Given the description of an element on the screen output the (x, y) to click on. 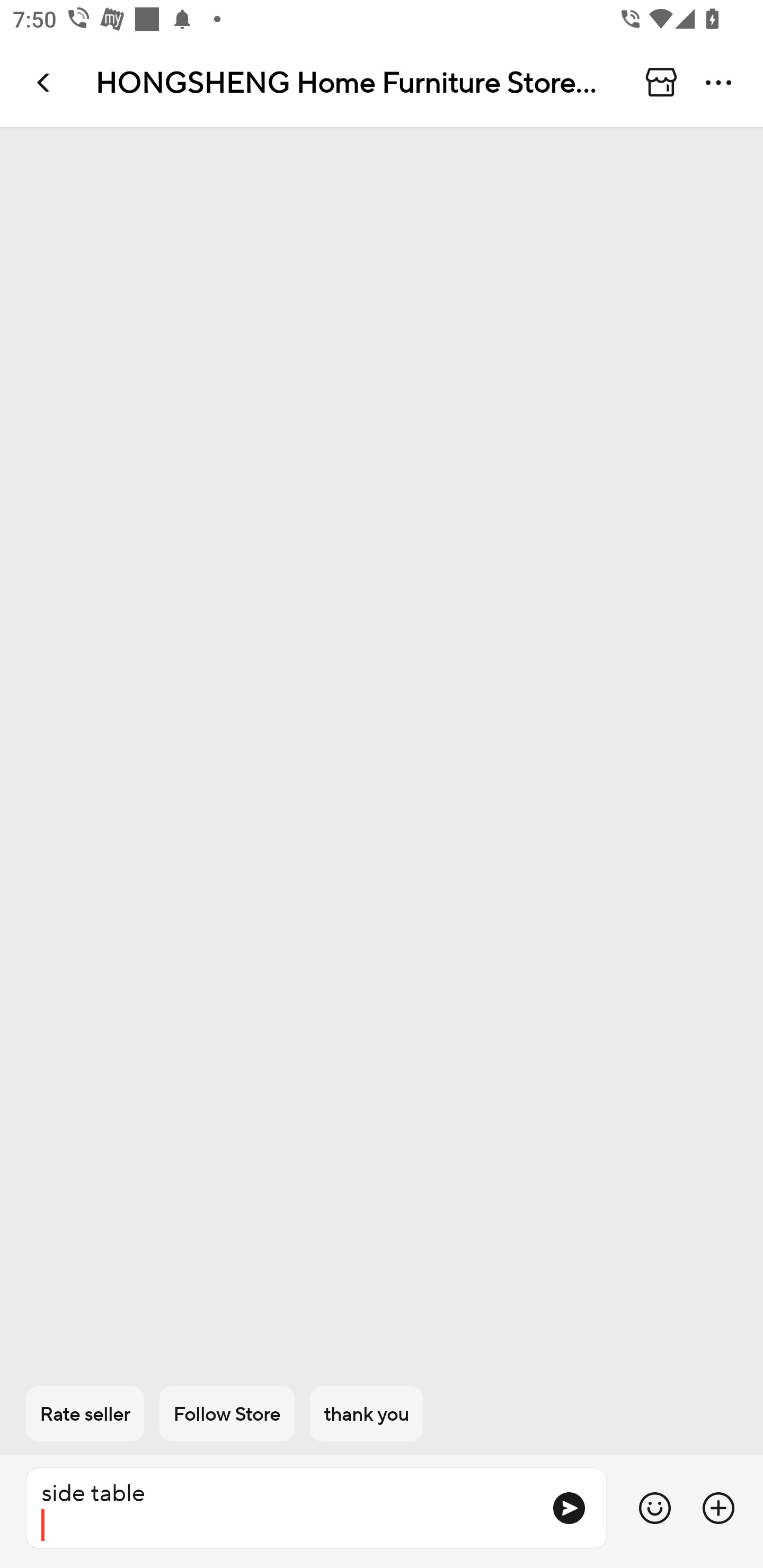
Navigate up (44, 82)
Rate seller (84, 1414)
Follow Store (226, 1414)
thank you (366, 1414)
side table
 (281, 1508)
